Given the description of an element on the screen output the (x, y) to click on. 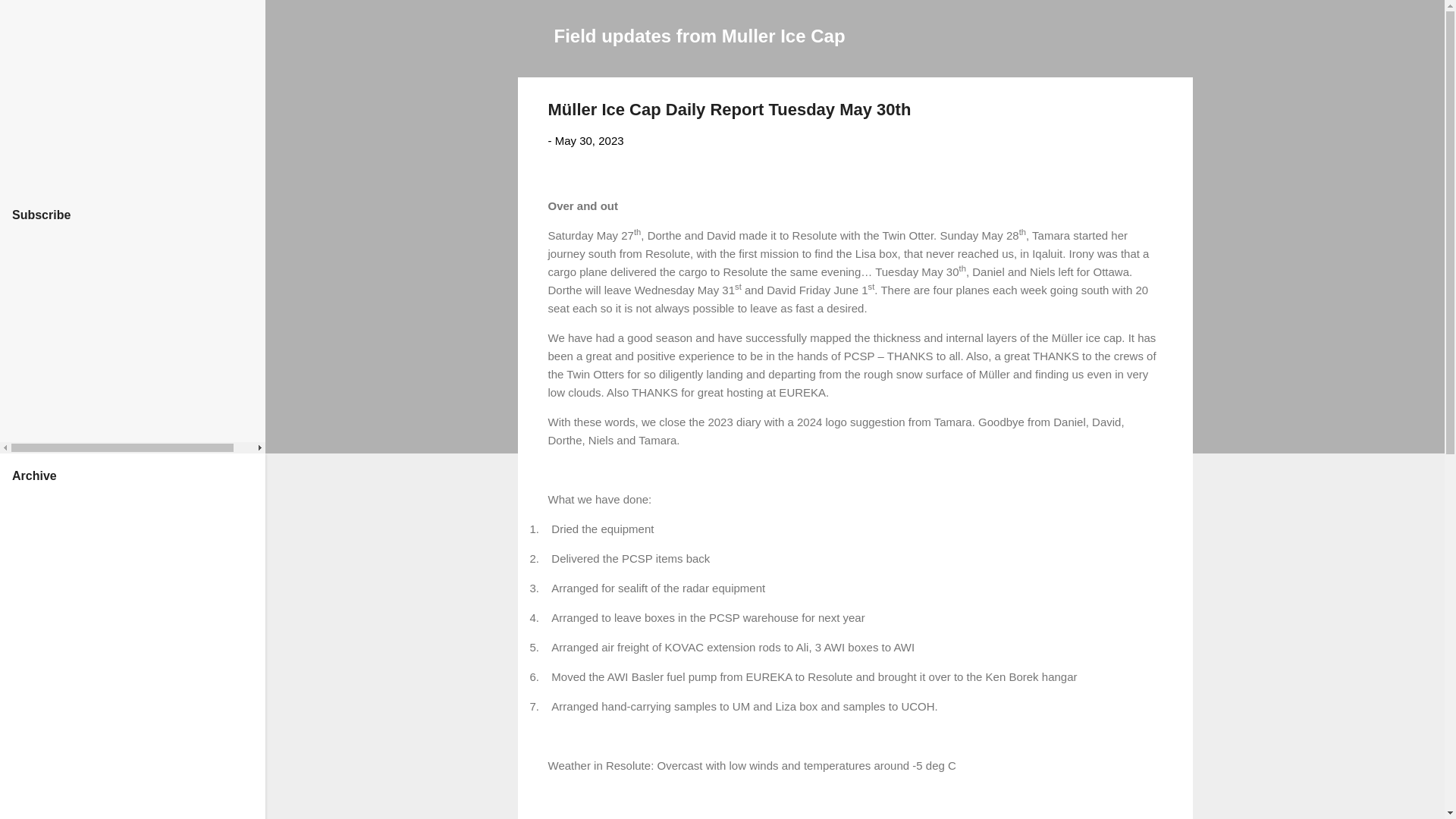
May 30, 2023 (589, 140)
Search (29, 18)
Field updates from Muller Ice Cap (698, 35)
permanent link (589, 140)
